Given the description of an element on the screen output the (x, y) to click on. 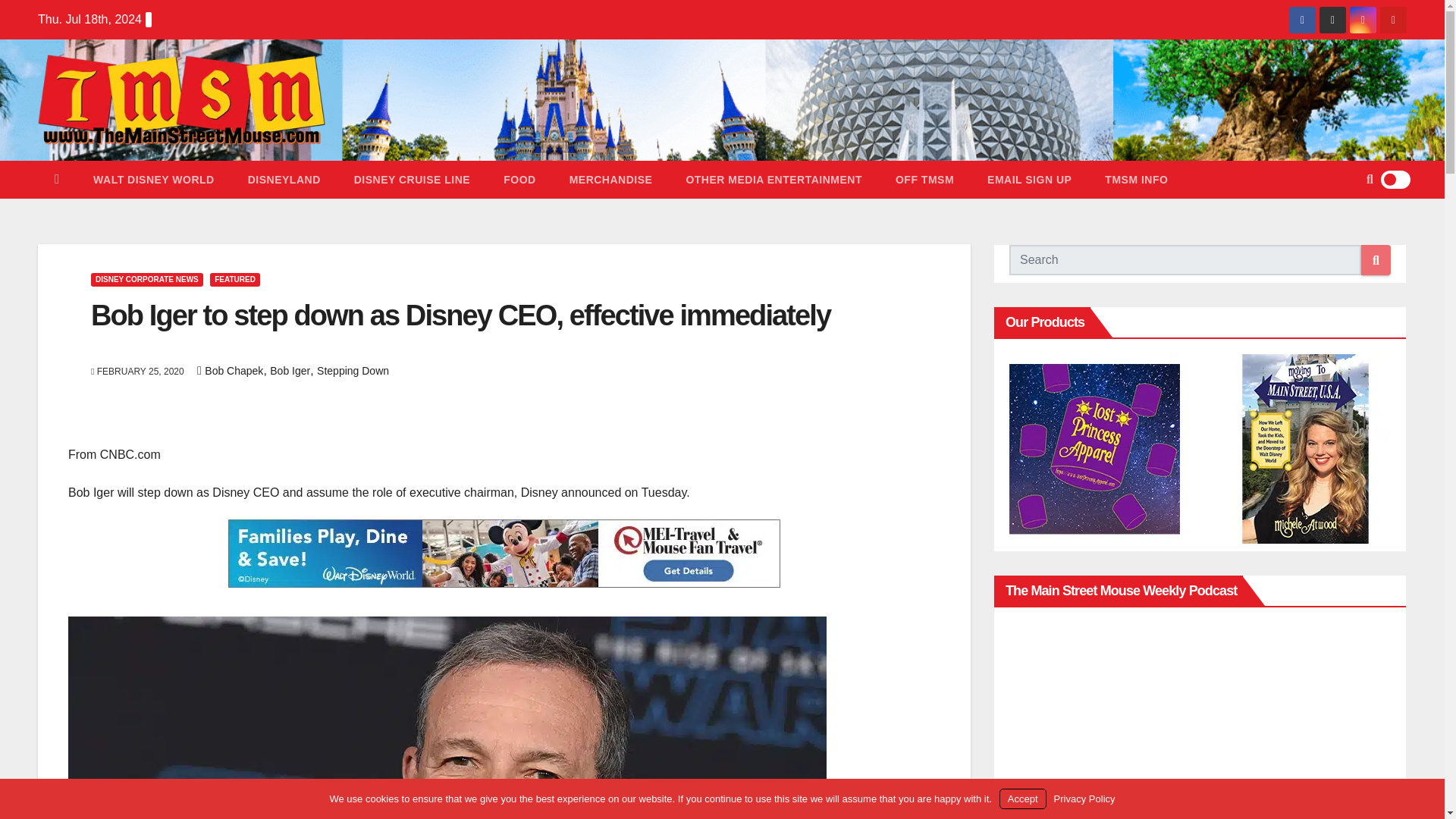
OFF TMSM (925, 179)
Stepping Down (352, 370)
Disneyland (284, 179)
Disney Cruise Line (411, 179)
Other Media Entertainment (773, 179)
Bob Iger (289, 370)
MERCHANDISE (611, 179)
FEATURED (234, 279)
DISNEYLAND (284, 179)
TMSM Info (1136, 179)
Email Sign Up (1029, 179)
Merchandise (611, 179)
OTHER MEDIA ENTERTAINMENT (773, 179)
DISNEY CRUISE LINE (411, 179)
